Given the description of an element on the screen output the (x, y) to click on. 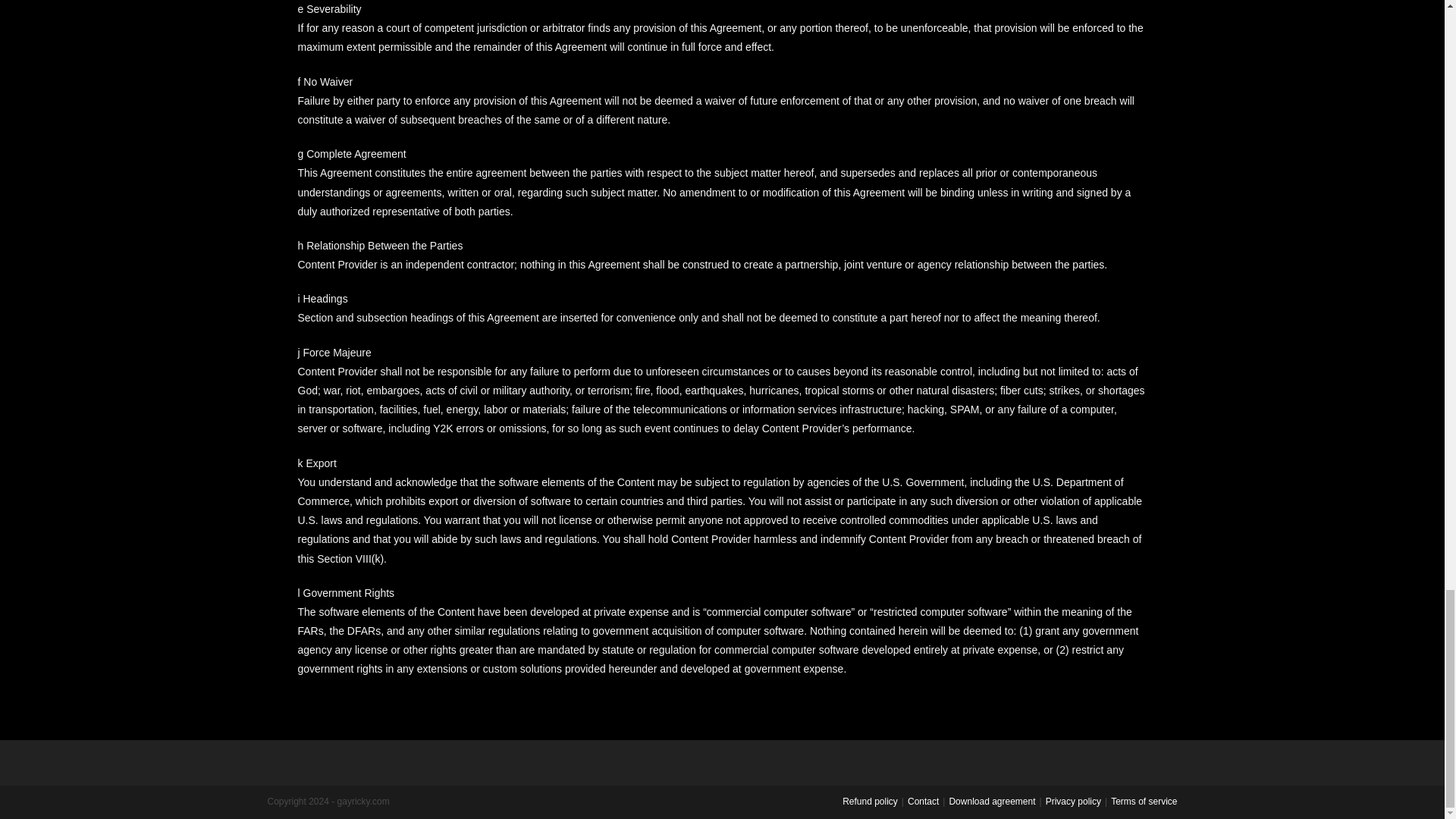
Download agreement (992, 801)
Terms of service (1143, 801)
Privacy policy (1072, 801)
Refund policy (870, 801)
Contact (923, 801)
